Given the description of an element on the screen output the (x, y) to click on. 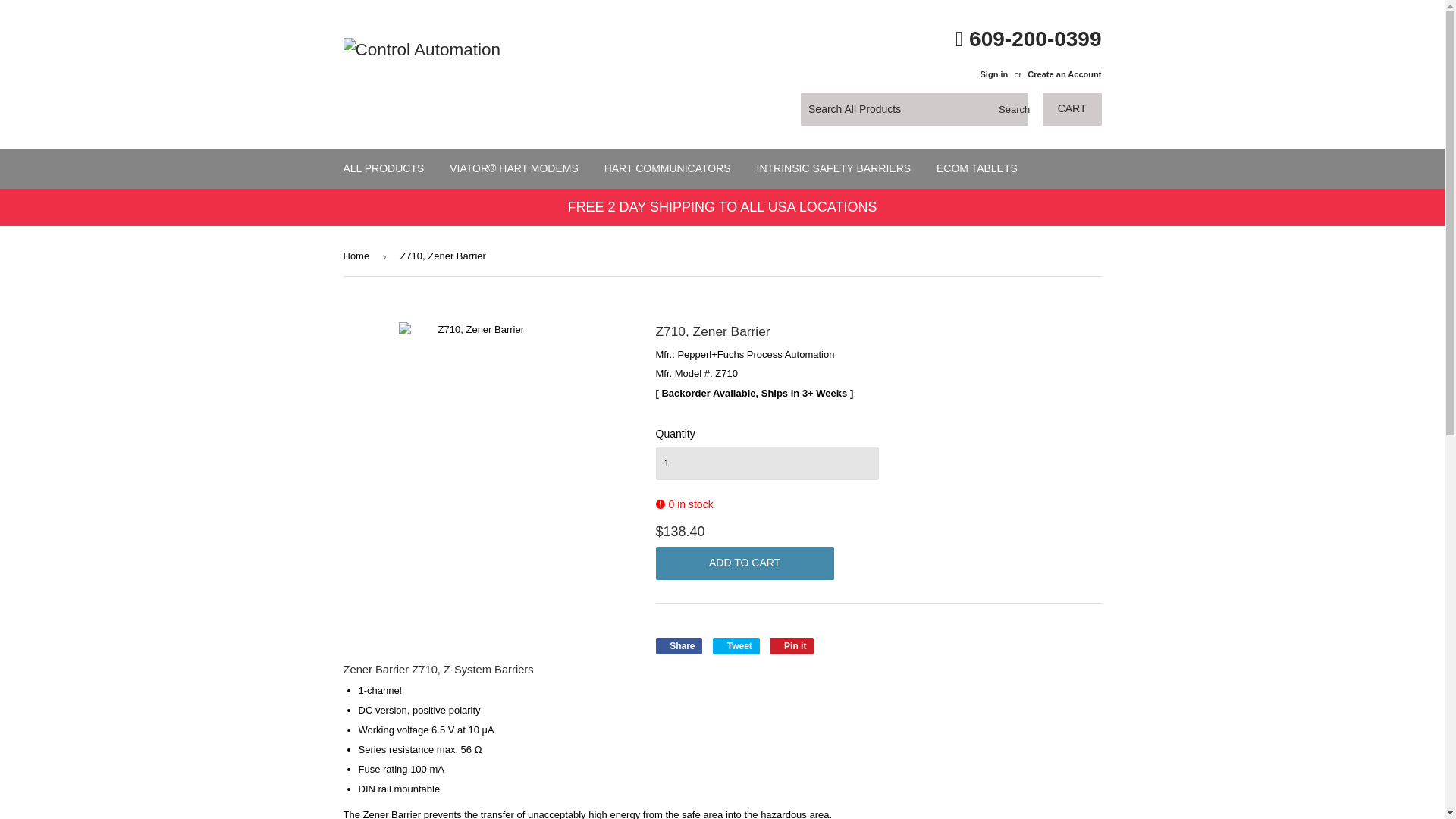
ECOM TABLETS (976, 168)
Create an Account (1063, 73)
1 (766, 462)
Pin on Pinterest (791, 646)
ALL PRODUCTS (383, 168)
INTRINSIC SAFETY BARRIERS (834, 168)
Share on Facebook (678, 646)
ADD TO CART (678, 646)
CART (743, 563)
HART COMMUNICATORS (791, 646)
Sign in (1072, 109)
Tweet on Twitter (667, 168)
